Given the description of an element on the screen output the (x, y) to click on. 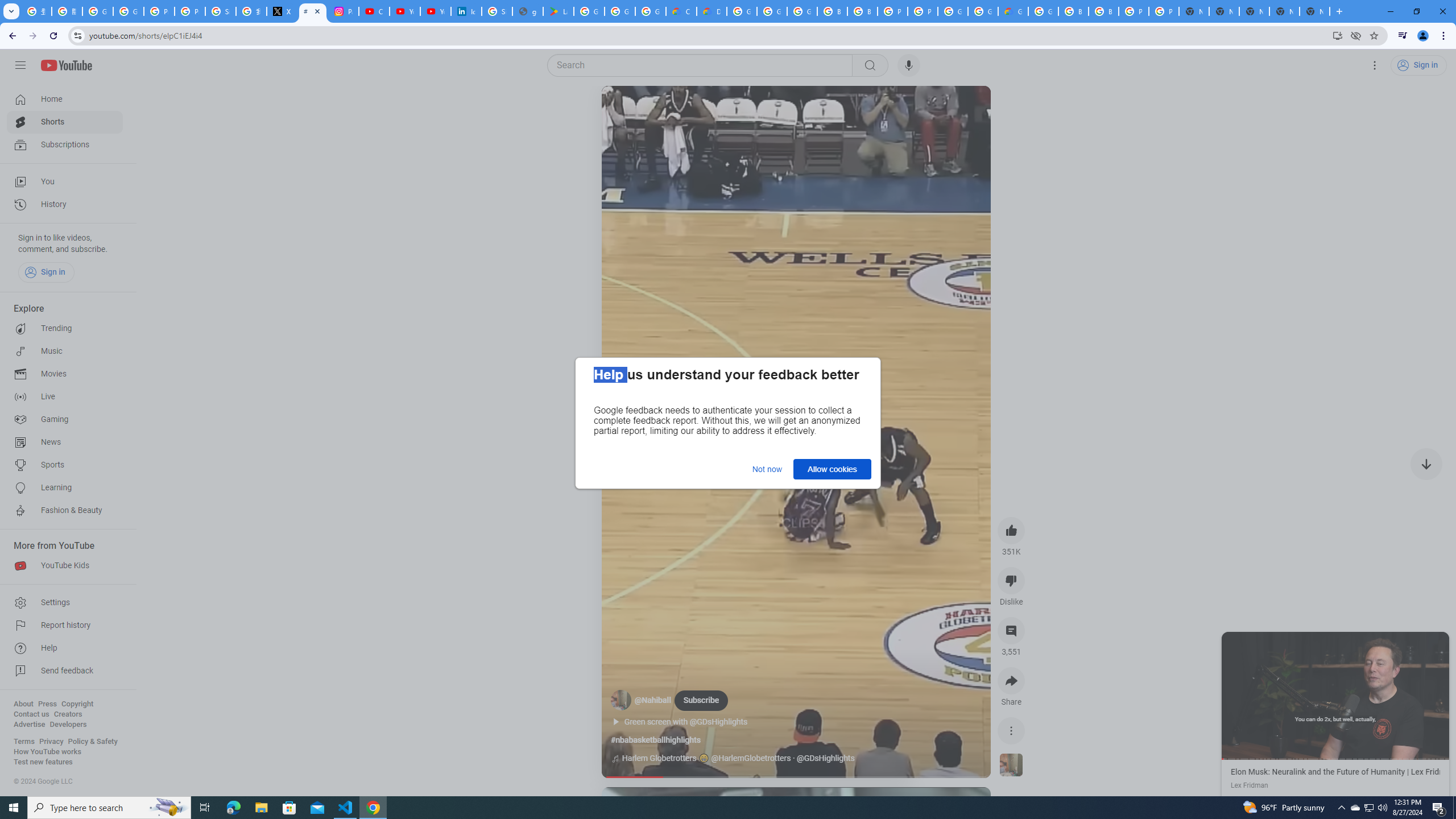
Next video (1426, 463)
YouTube Culture & Trends - YouTube Top 10, 2021 (434, 11)
Share (1011, 680)
Subscriptions (64, 144)
Google Cloud Platform (741, 11)
@Nahiball (653, 700)
#nbabasketballhighlights - YouTube (312, 11)
